Given the description of an element on the screen output the (x, y) to click on. 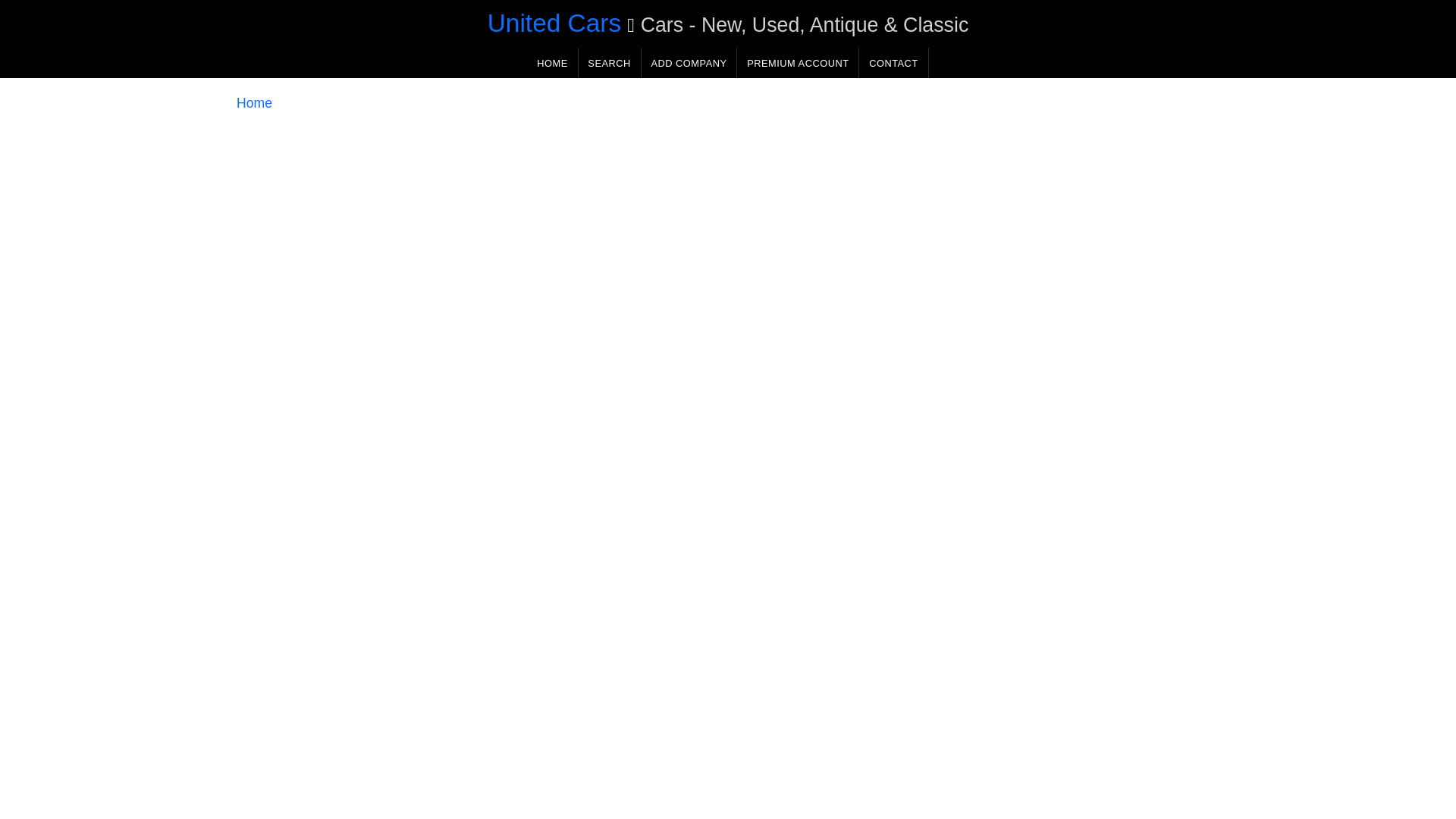
Premium account (797, 62)
PREMIUM ACCOUNT (797, 62)
Add a new company (689, 62)
SEARCH (609, 62)
Home (253, 102)
United Cars (554, 22)
HOME (551, 62)
Search in this webseite. (609, 62)
ADD COMPANY (689, 62)
